Given the description of an element on the screen output the (x, y) to click on. 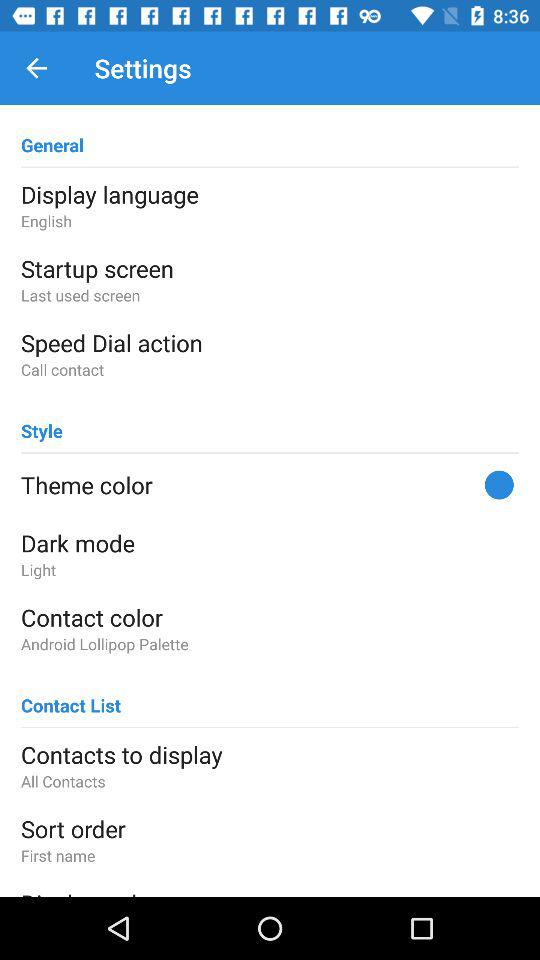
swipe until the theme color (270, 485)
